Given the description of an element on the screen output the (x, y) to click on. 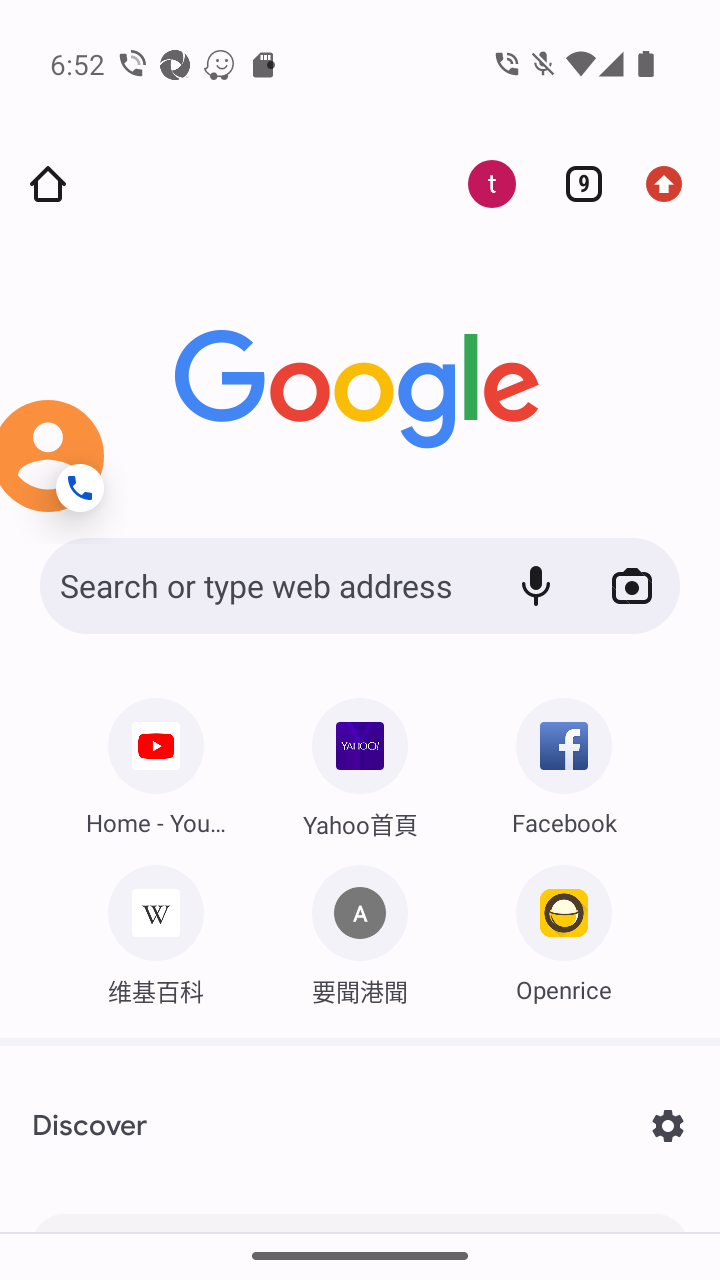
Home (47, 184)
Manage account (479, 184)
Switch or close tabs (575, 184)
Update available. More options (672, 184)
Search or type web address (261, 585)
Start voice search (535, 585)
Search with your camera using Google Lens (631, 585)
Home - YouTube (156, 760)
Yahoo首頁 (359, 761)
Facebook (563, 760)
维基百科 (156, 928)
要聞港聞 (359, 928)
Openrice (563, 928)
Options for Discover (668, 1125)
